Given the description of an element on the screen output the (x, y) to click on. 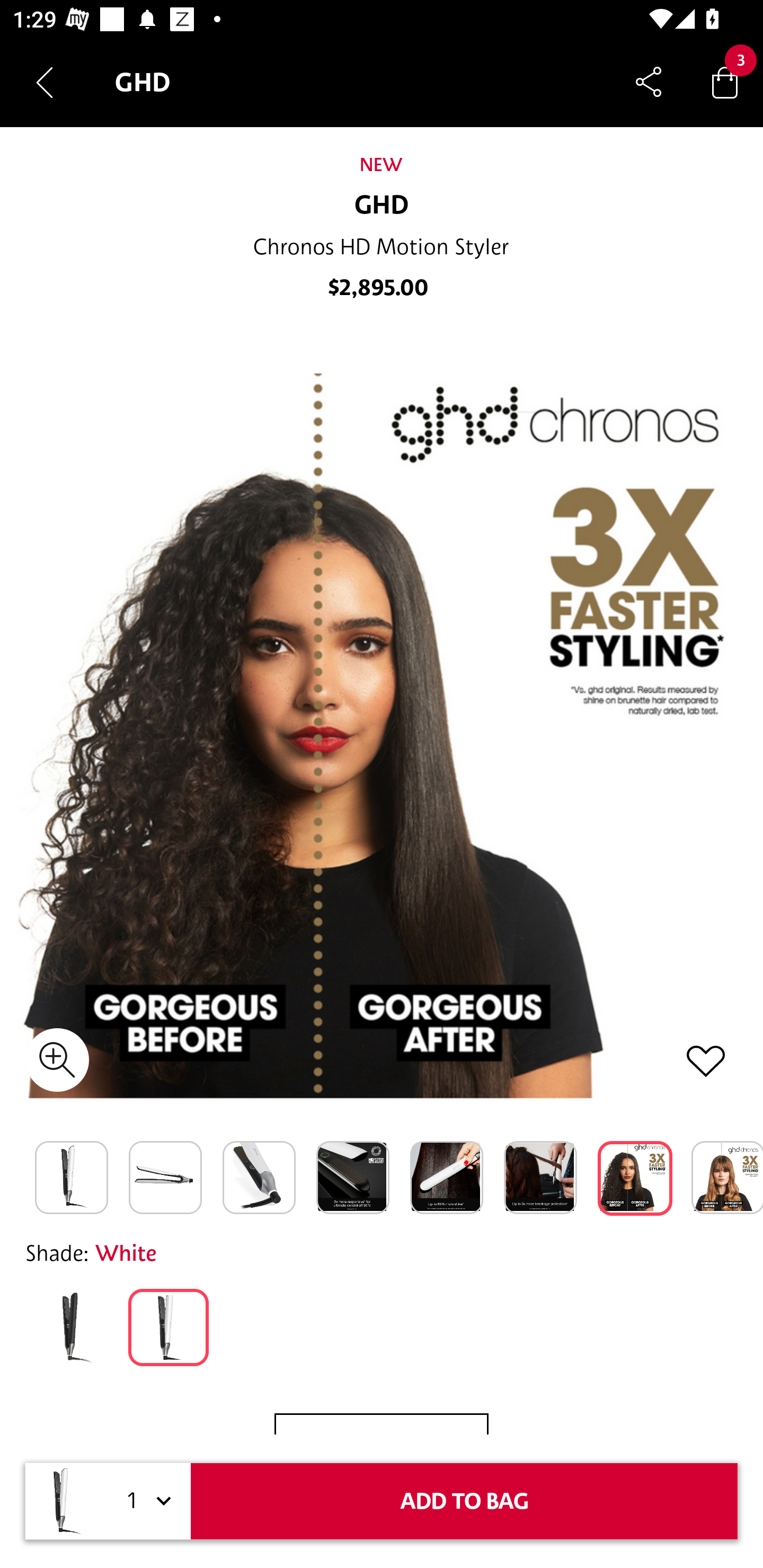
Navigate up (44, 82)
Share (648, 81)
Bag (724, 81)
GHD (381, 205)
1 (145, 1500)
ADD TO BAG (463, 1500)
